Given the description of an element on the screen output the (x, y) to click on. 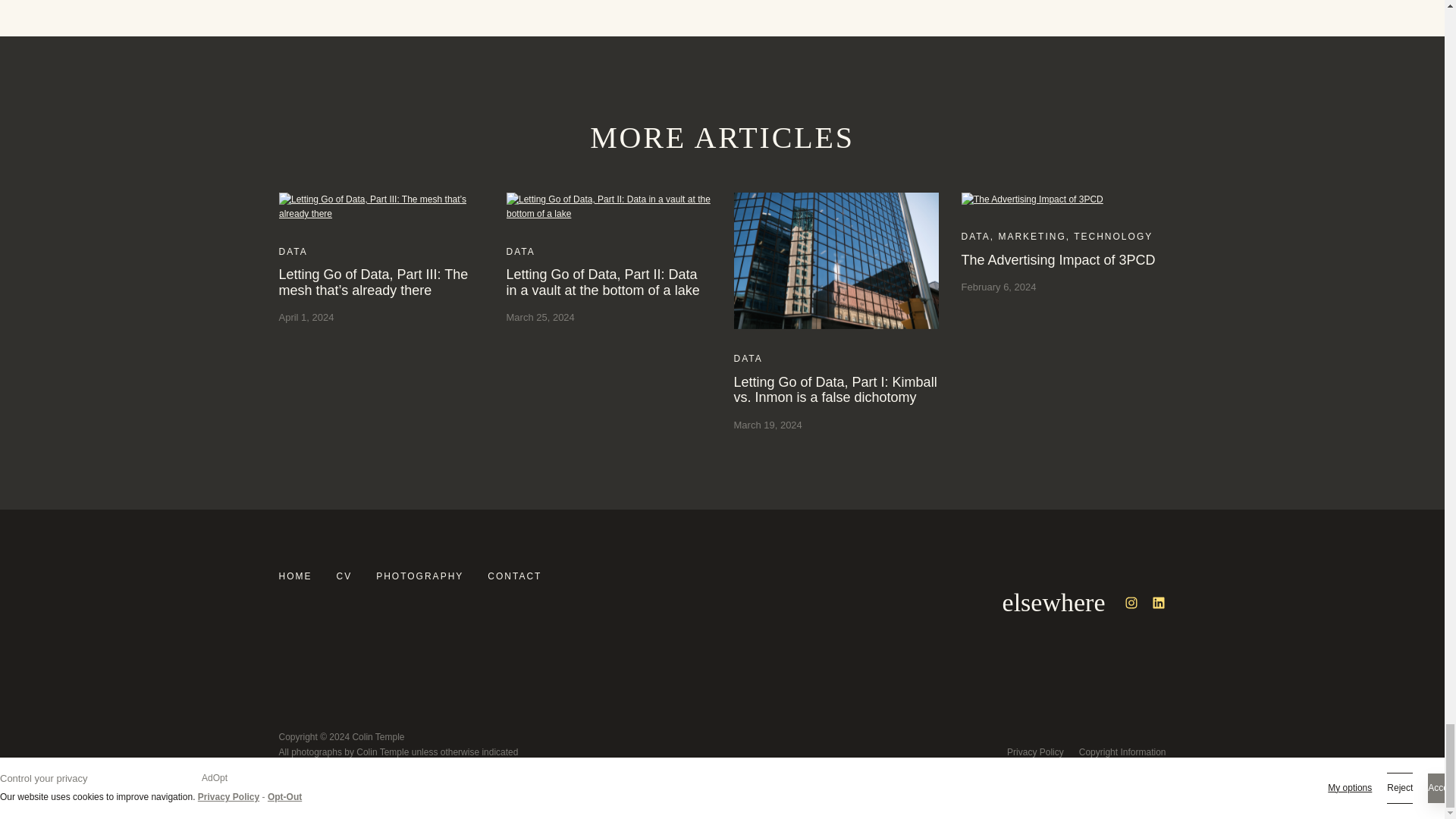
MARKETING (1031, 235)
TECHNOLOGY (1113, 235)
DATA (520, 251)
DATA (747, 357)
DATA (975, 235)
DATA (293, 251)
